Given the description of an element on the screen output the (x, y) to click on. 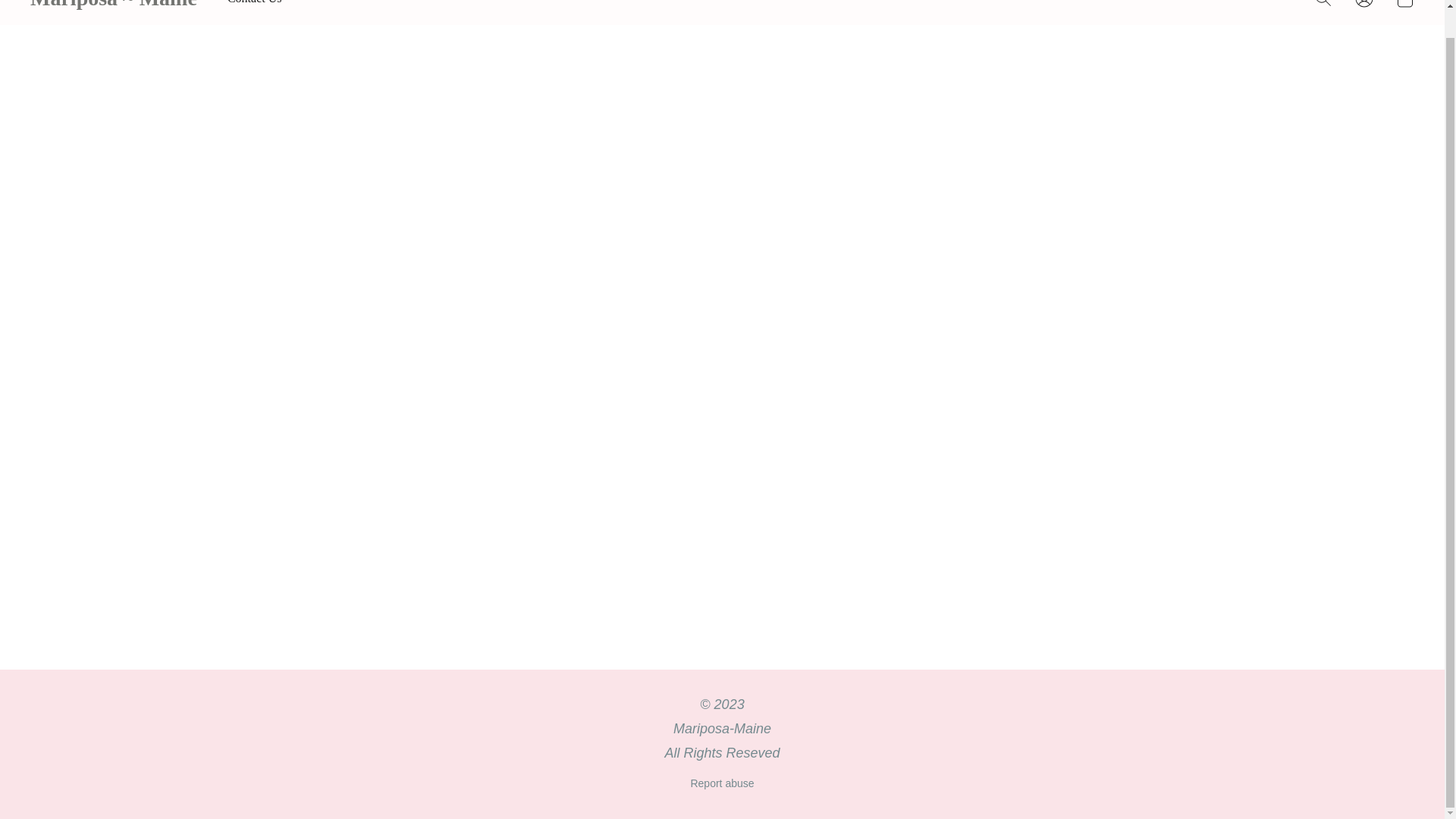
Report abuse (722, 782)
Go to your shopping cart (1404, 7)
Contact Us (254, 6)
Search the website (1323, 7)
